Given the description of an element on the screen output the (x, y) to click on. 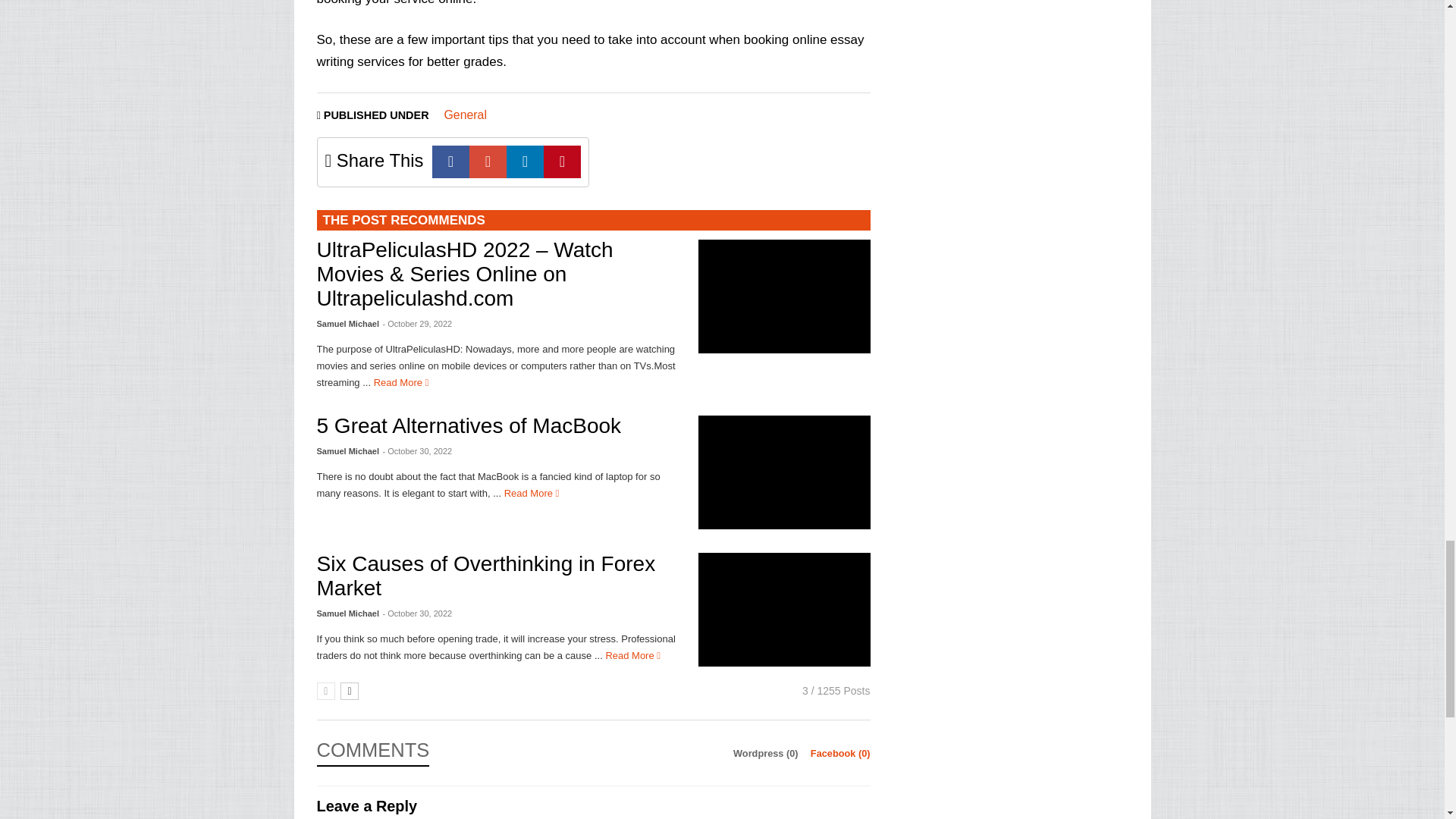
Linkedin (524, 161)
5 Great Alternatives of MacBook (531, 492)
Facebook (450, 161)
5 Great Alternatives of MacBook (469, 425)
Six Causes of Overthinking in Forex Market (783, 609)
Pinterest (561, 161)
E-mail (487, 161)
5 Great Alternatives of MacBook (783, 472)
Six Causes of Overthinking in Forex Market (486, 575)
